Given the description of an element on the screen output the (x, y) to click on. 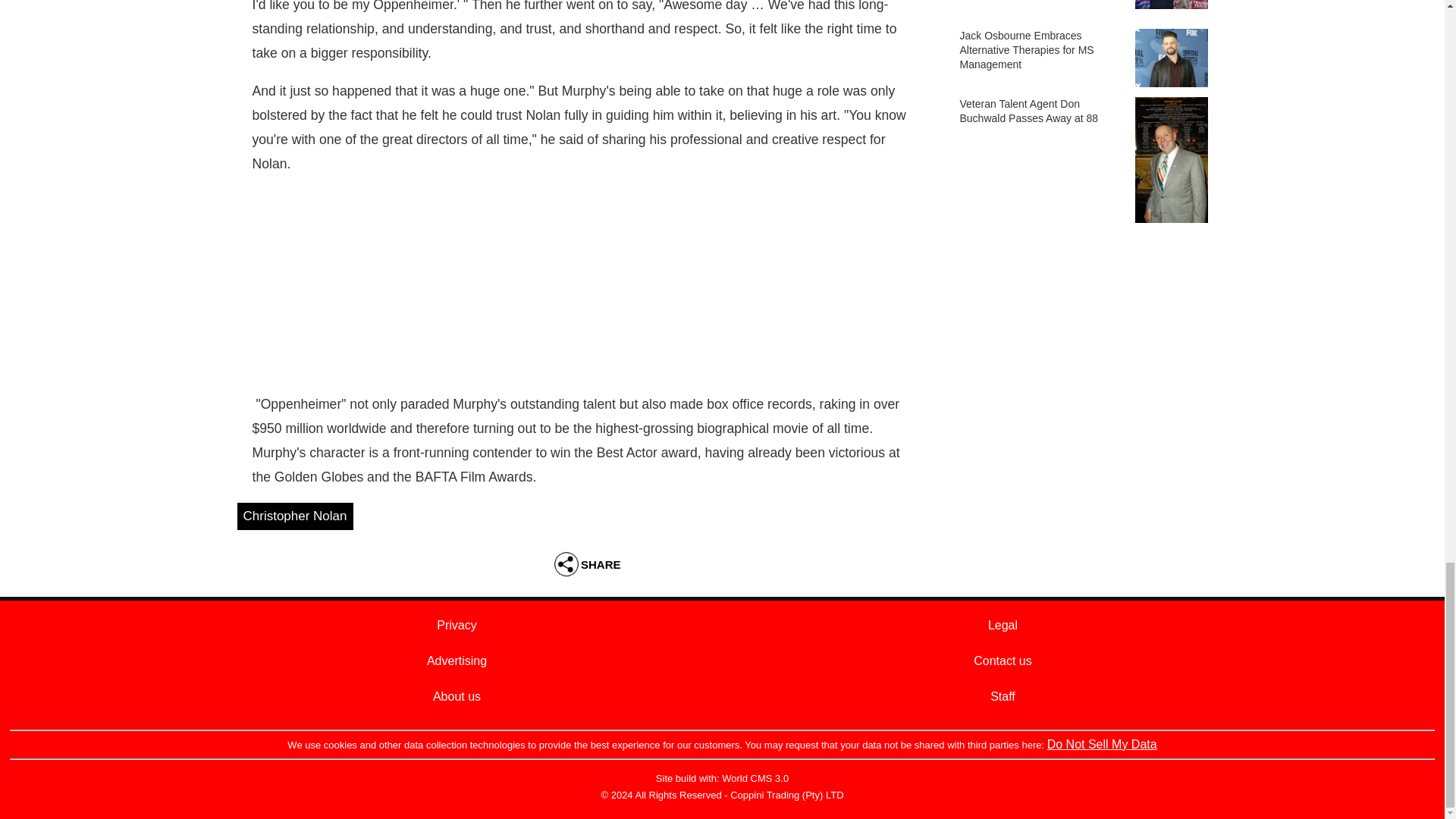
Christopher Nolan (293, 515)
